Given the description of an element on the screen output the (x, y) to click on. 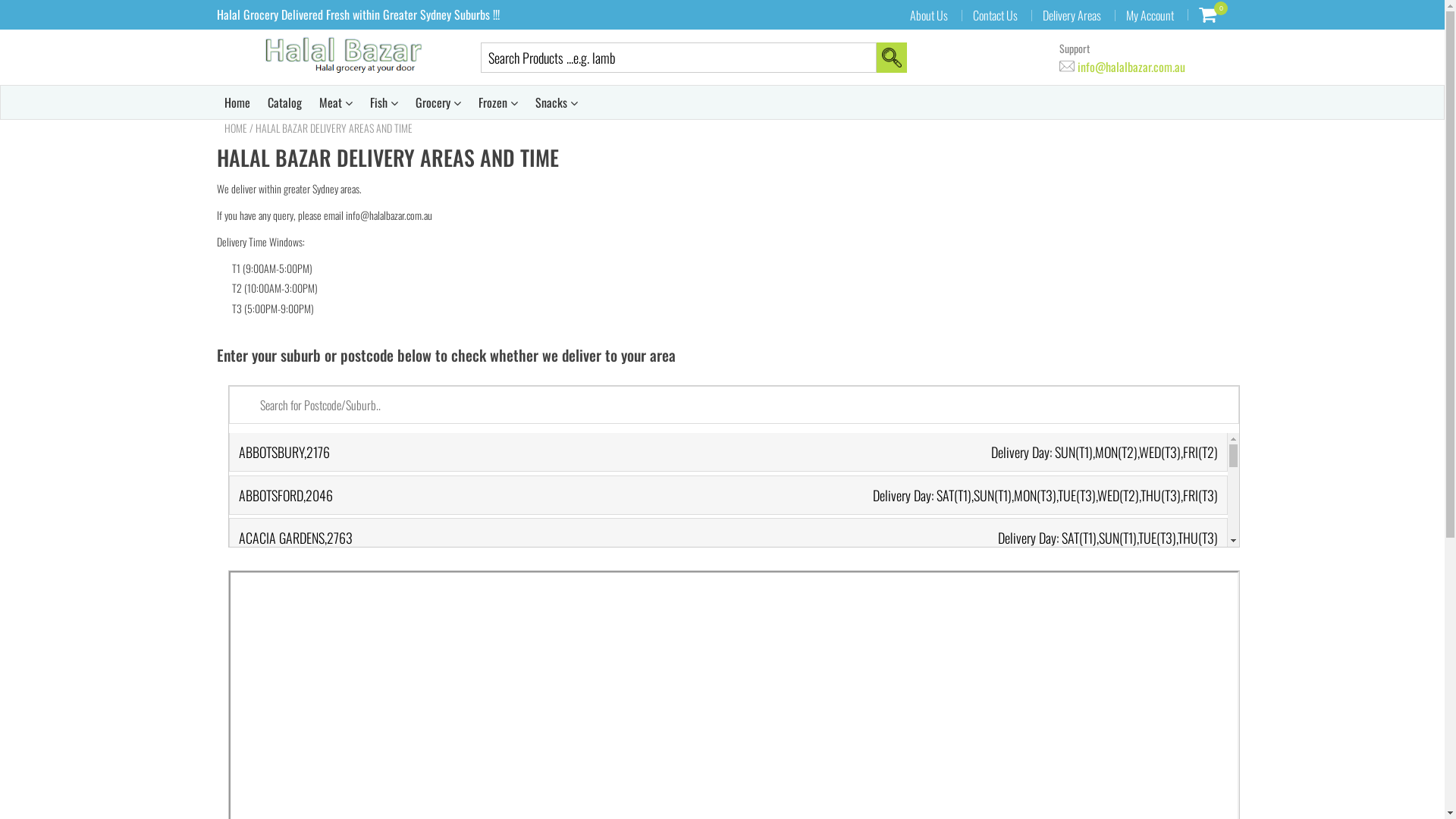
HOME Element type: text (235, 127)
Delivery Areas Element type: text (1071, 15)
info@halalbazar.com.au Element type: text (1121, 66)
Meat Element type: text (334, 102)
Catalog Element type: text (283, 102)
0 Element type: text (1207, 14)
About Us Element type: text (928, 15)
AMBARVALE,2560
Delivery Day: SUN(T1),MON(T2),WED(T3),FRI(T2) Element type: text (728, 666)
Frozen Element type: text (497, 102)
Type your Postcode or Subrb Element type: hover (734, 404)
Fish Element type: text (384, 102)
Snacks Element type: text (556, 102)
Home Element type: text (237, 102)
My Account Element type: text (1149, 15)
Grocery Element type: text (438, 102)
Contact Us Element type: text (994, 15)
